Given the description of an element on the screen output the (x, y) to click on. 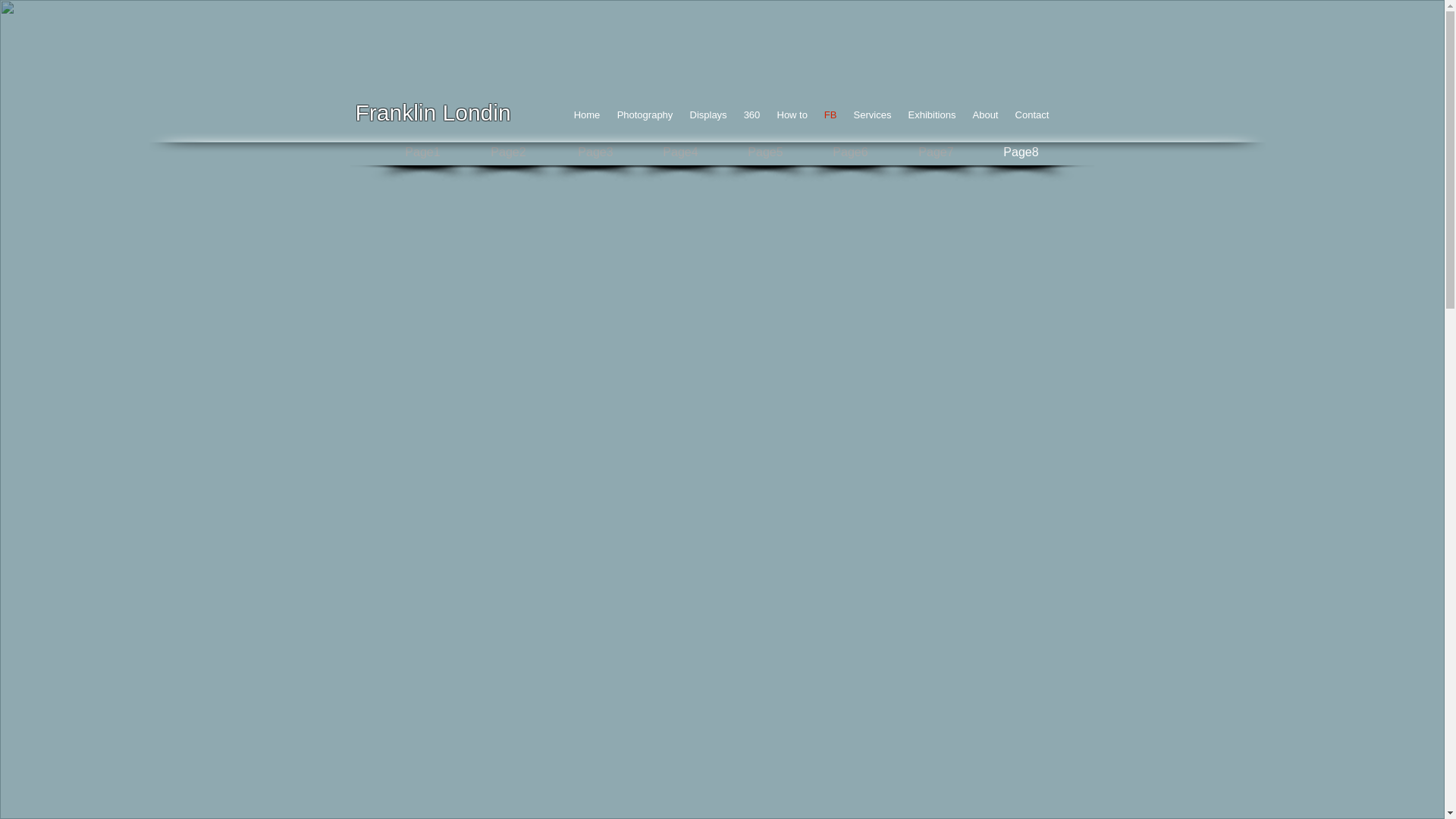
Displays Element type: text (707, 115)
Page8 Element type: text (1021, 152)
Page4 Element type: text (680, 152)
Home Element type: text (586, 115)
Contact Element type: text (1032, 115)
Page1 Element type: text (422, 152)
Page3 Element type: text (595, 152)
Exhibitions Element type: text (931, 115)
Page5 Element type: text (765, 152)
Page6 Element type: text (849, 152)
About Element type: text (985, 115)
Page7 Element type: text (936, 152)
How to Element type: text (791, 115)
FB Element type: text (830, 115)
Photography Element type: text (644, 115)
Page2 Element type: text (508, 152)
Services Element type: text (871, 115)
360 Element type: text (751, 115)
